Given the description of an element on the screen output the (x, y) to click on. 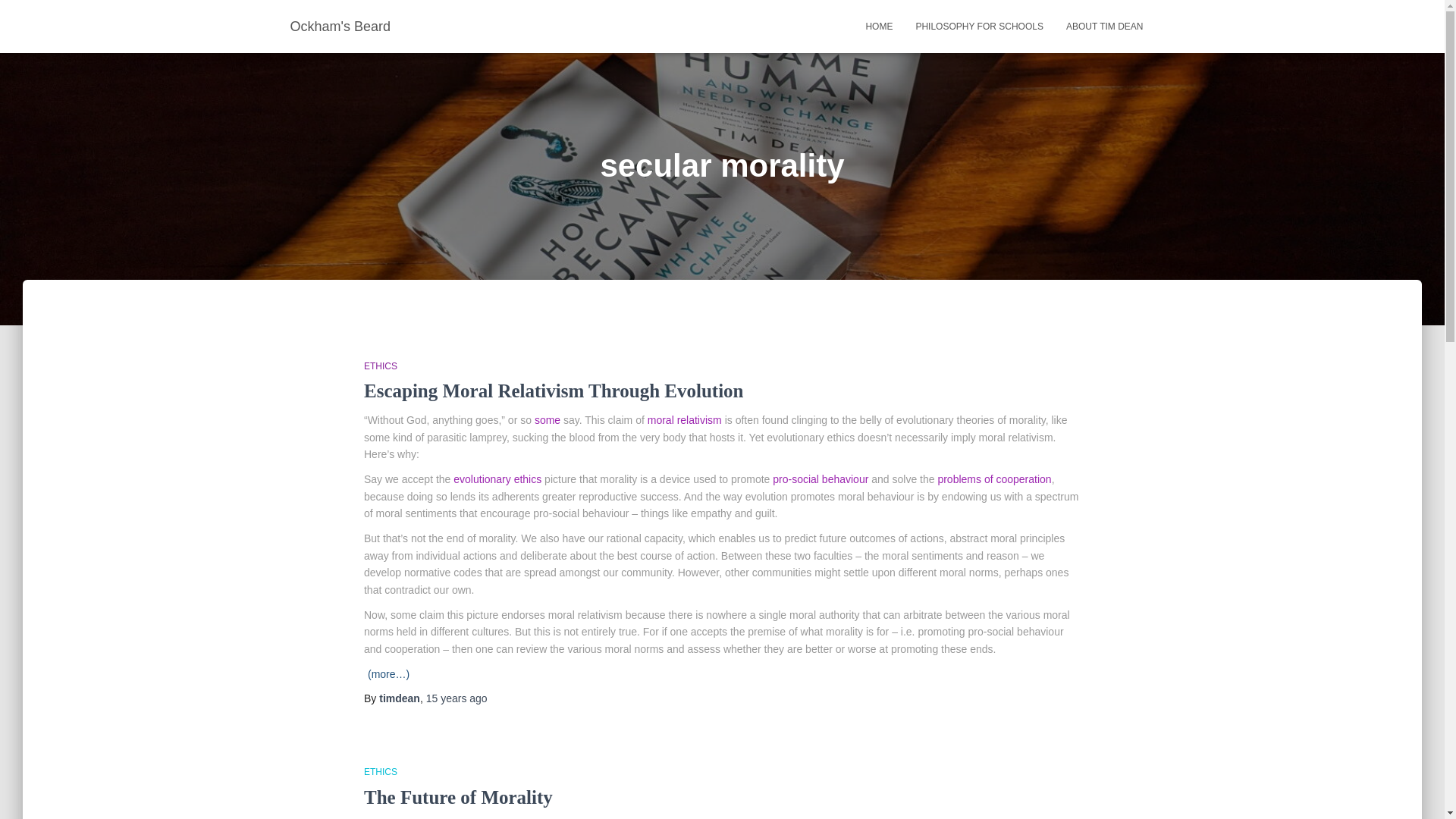
View all posts in ethics (380, 366)
About Tim Dean (1104, 26)
timdean (399, 698)
ABOUT TIM DEAN (1104, 26)
HOME (878, 26)
pro-social behaviour (820, 479)
The Future of Morality (458, 797)
Ockham's Beard (341, 26)
ETHICS (380, 771)
PHILOSOPHY FOR SCHOOLS (979, 26)
some (547, 419)
problems of cooperation (994, 479)
Philosophy for Schools (979, 26)
ETHICS (380, 366)
moral relativism (684, 419)
